Given the description of an element on the screen output the (x, y) to click on. 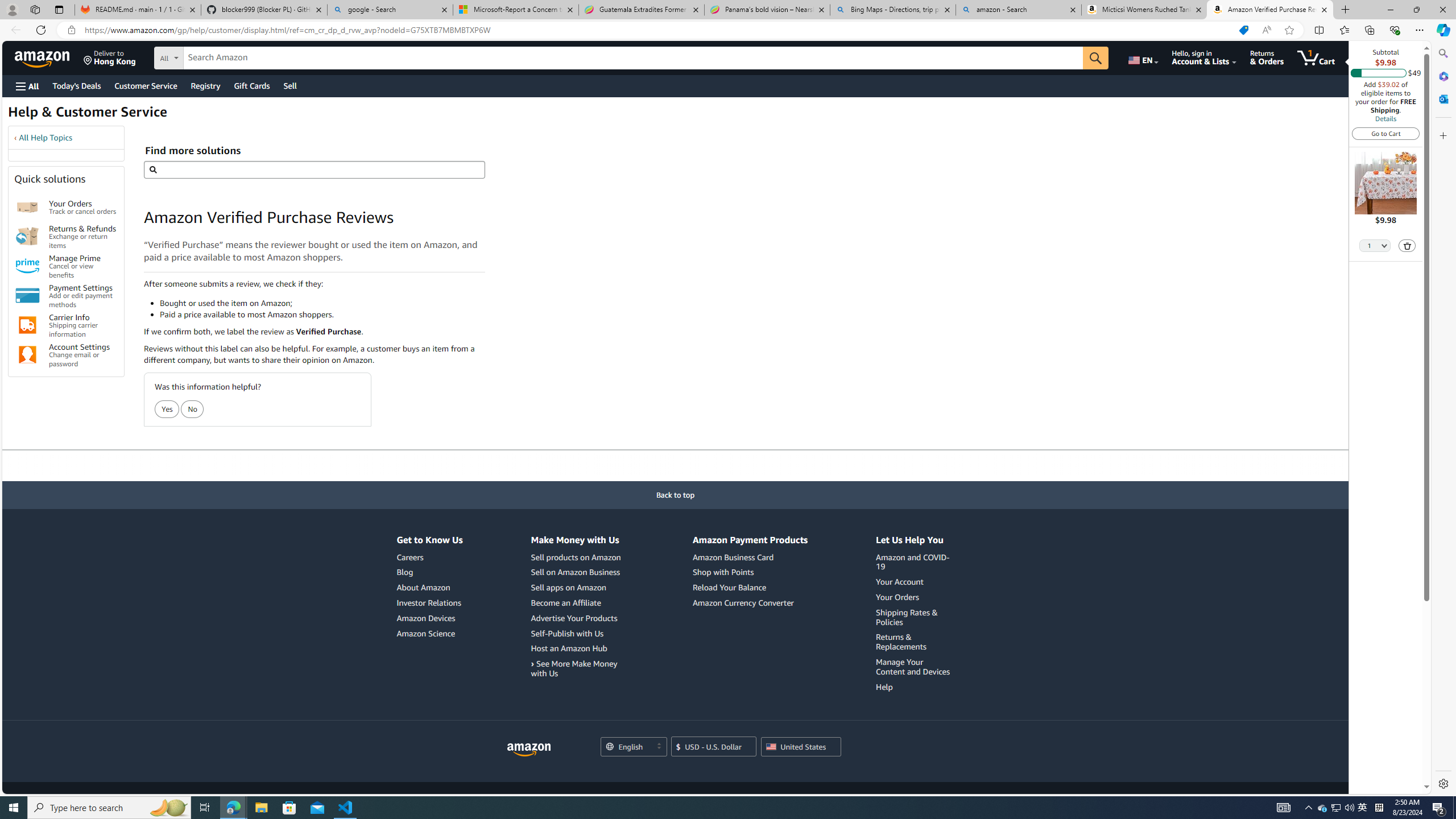
Your Orders (897, 596)
Search Amazon (633, 57)
Host an Amazon Hub (568, 648)
See More Make Money with Us (576, 668)
Bought or used the item on Amazon; (322, 302)
Reload Your Balance (729, 587)
About Amazon (422, 587)
Choose a language for shopping. (632, 746)
Shop with Points (749, 572)
Delete (1407, 245)
